Given the description of an element on the screen output the (x, y) to click on. 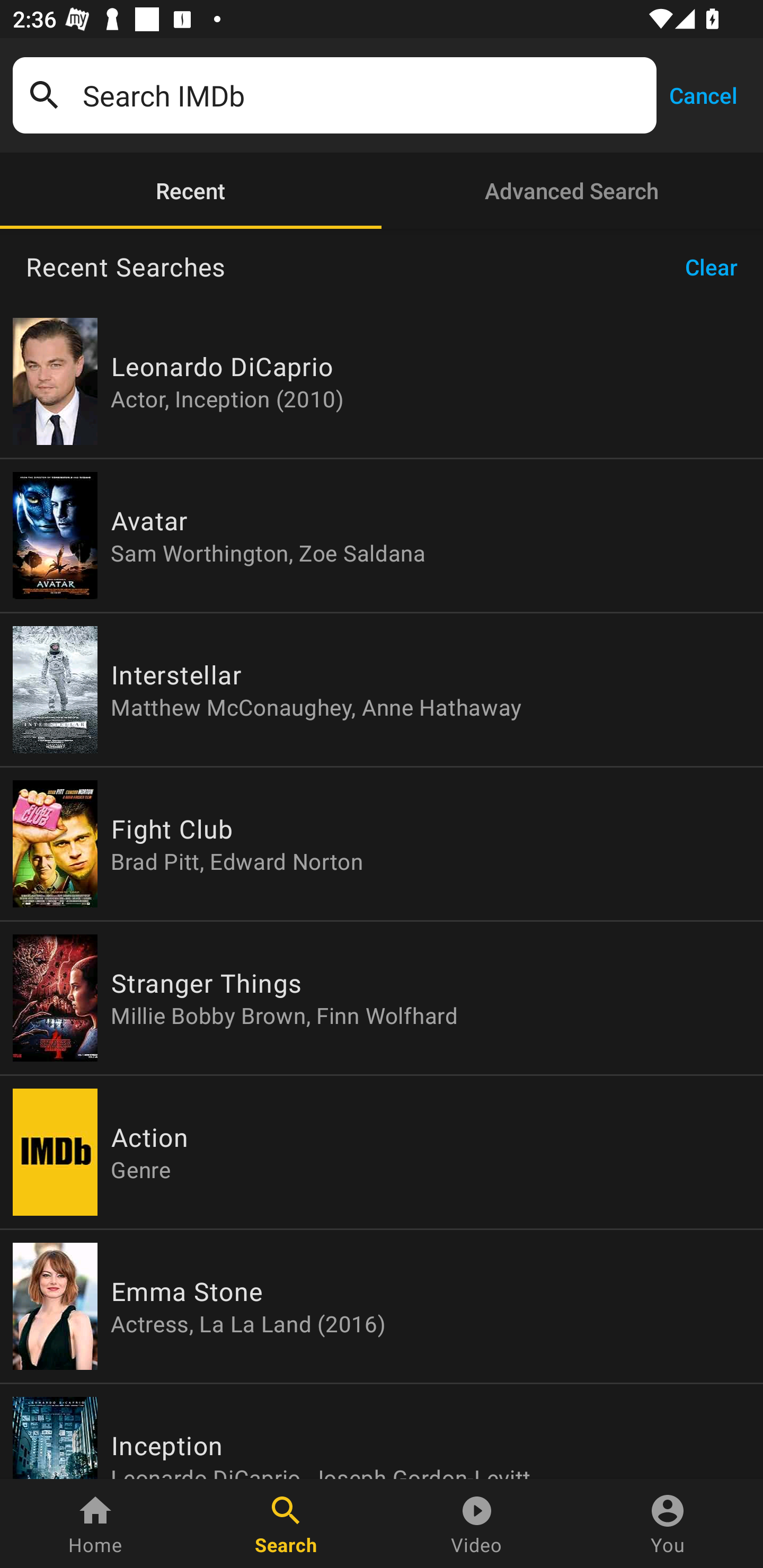
Cancel (703, 94)
Search IMDb (363, 95)
Advanced Search (572, 190)
Clear (717, 266)
Leonardo DiCaprio Actor, Inception (2010) (381, 381)
Avatar Sam Worthington, Zoe Saldana (381, 535)
Interstellar Matthew McConaughey, Anne Hathaway (381, 689)
Fight Club Brad Pitt, Edward Norton (381, 844)
Stranger Things Millie Bobby Brown, Finn Wolfhard (381, 997)
Action Genre (381, 1151)
Emma Stone Actress, La La Land (2016) (381, 1305)
Inception Leonardo DiCaprio, Joseph Gordon-Levitt (381, 1431)
Home (95, 1523)
Video (476, 1523)
You (667, 1523)
